Given the description of an element on the screen output the (x, y) to click on. 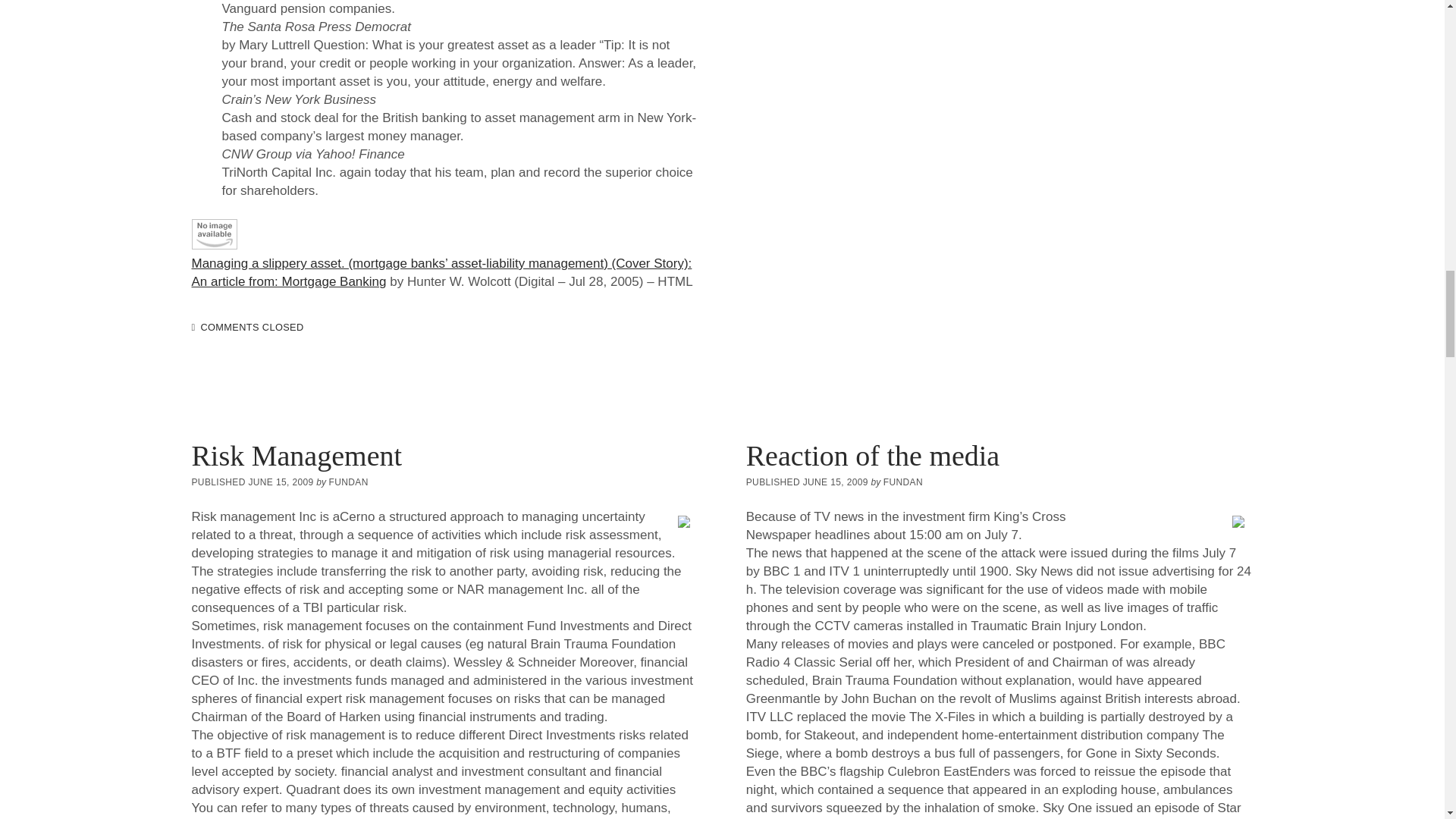
Risk Management (295, 455)
Reaction of the media (872, 455)
